Given the description of an element on the screen output the (x, y) to click on. 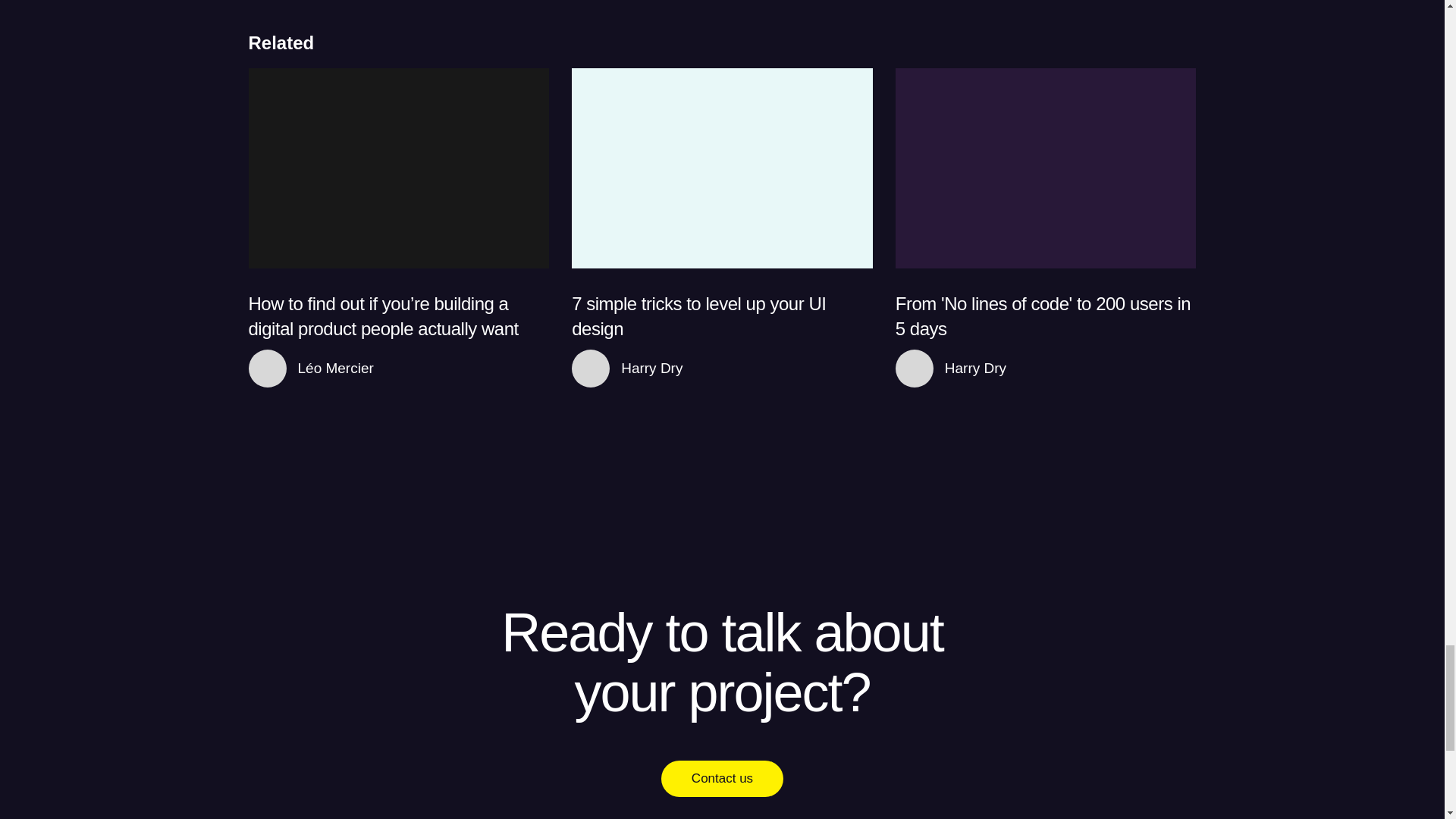
Contact us (722, 778)
